Given the description of an element on the screen output the (x, y) to click on. 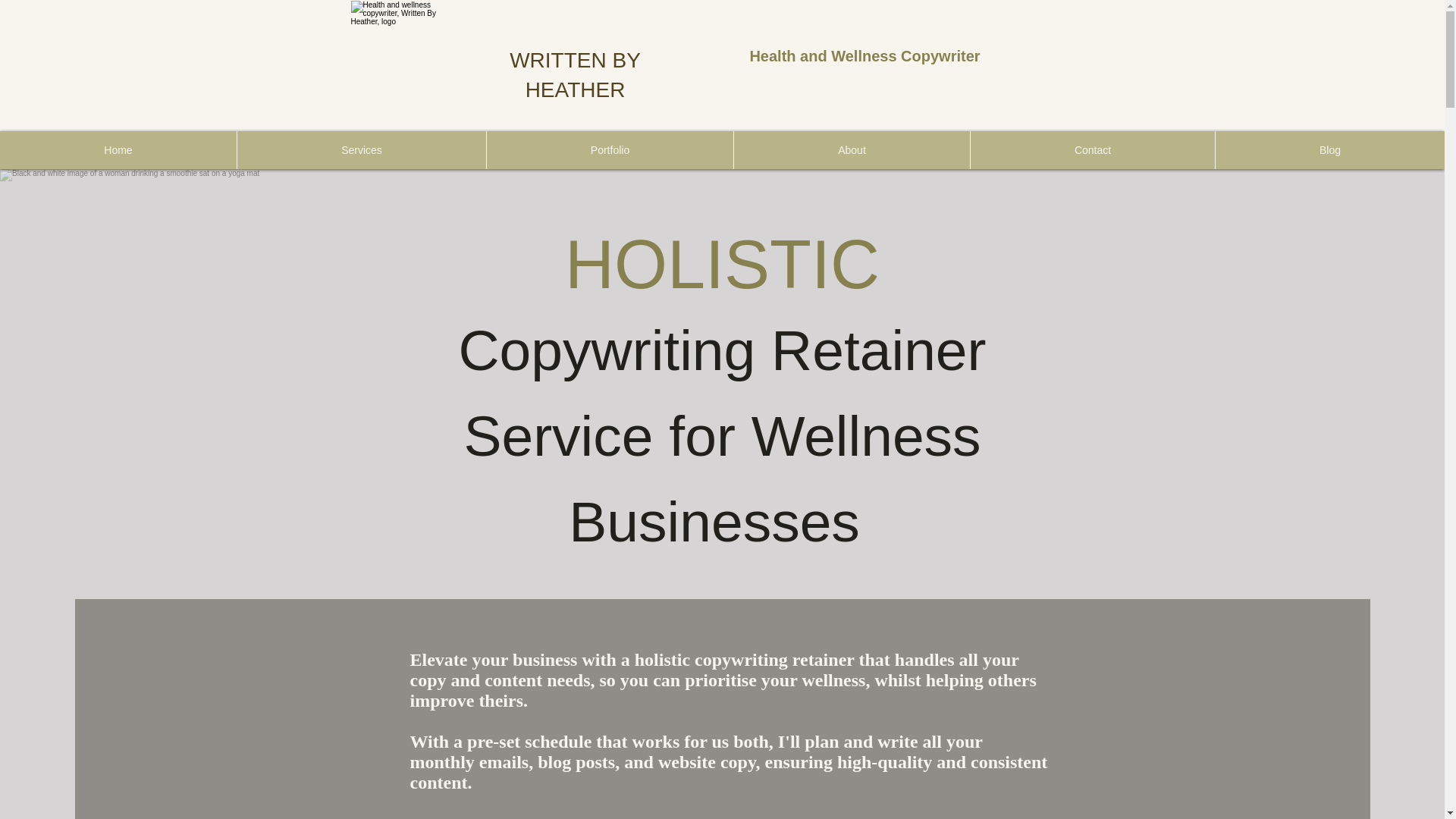
WRITTEN BY HEATHER (574, 74)
Home (117, 149)
Contact (1091, 149)
